Given the description of an element on the screen output the (x, y) to click on. 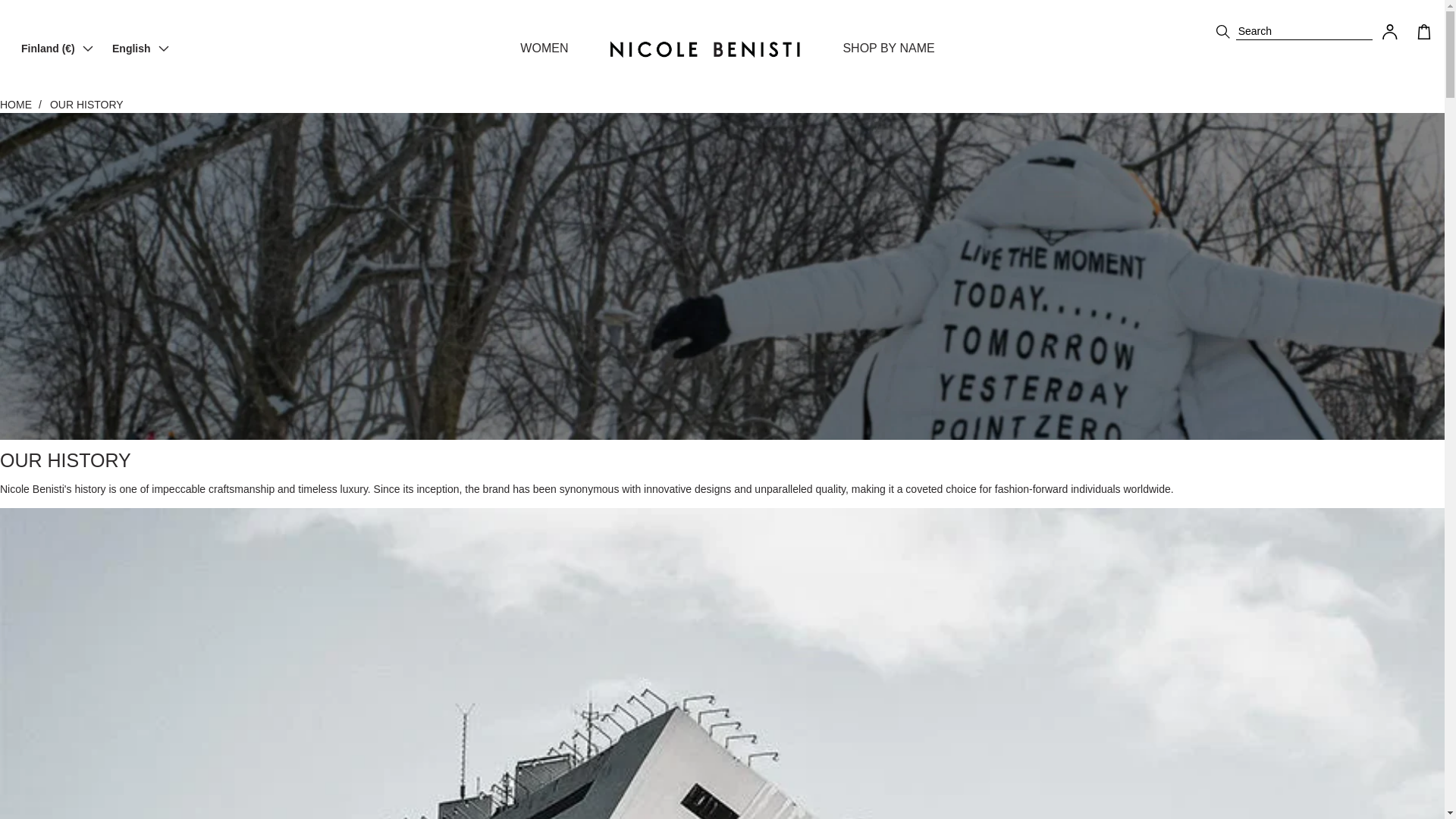
SKIP TO CONTENT (16, 7)
